Given the description of an element on the screen output the (x, y) to click on. 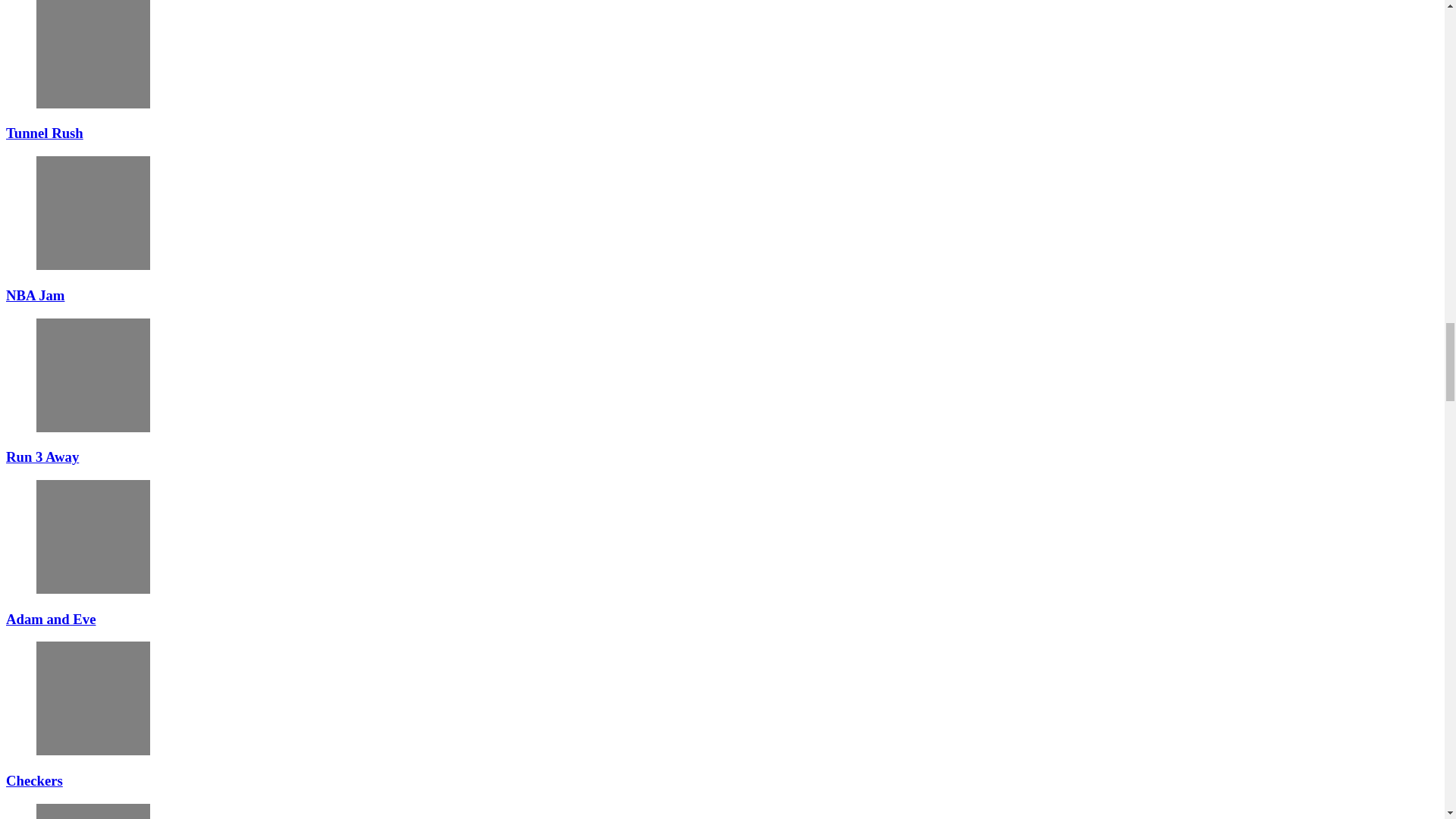
NBA Jam (92, 213)
Adam and Eve (92, 536)
Bouncy Basketball (92, 811)
Checkers (92, 698)
Tunnel Rush (92, 54)
Run 3 Away (92, 375)
